Given the description of an element on the screen output the (x, y) to click on. 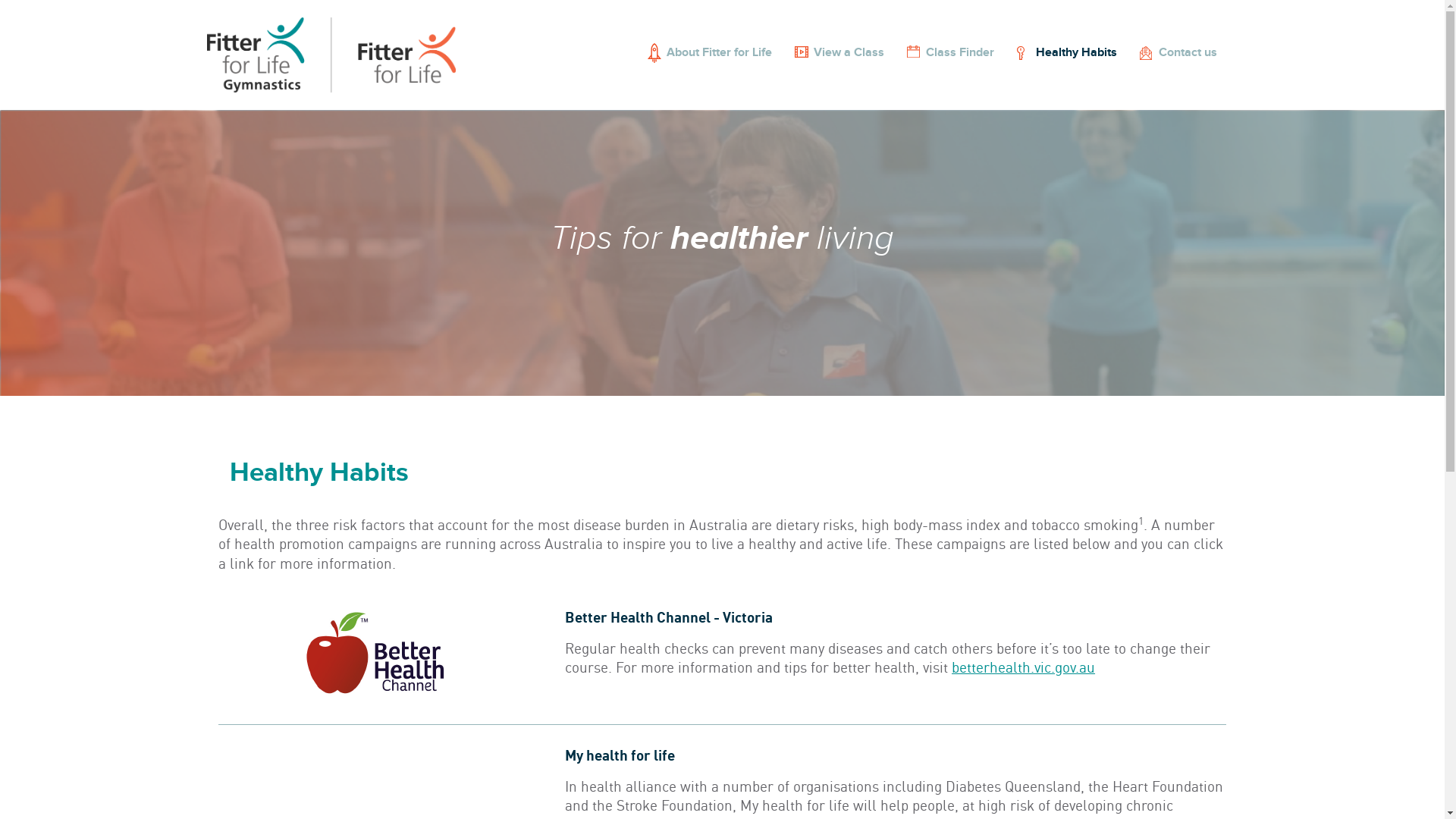
About Fitter for Life Element type: text (711, 53)
Class Finder Element type: text (952, 53)
Healthy Habits Element type: text (1068, 53)
Contact us Element type: text (1180, 53)
Fitter for life Element type: text (331, 54)
betterhealth.vic.gov.au Element type: text (1023, 666)
View a Class Element type: text (841, 53)
